Given the description of an element on the screen output the (x, y) to click on. 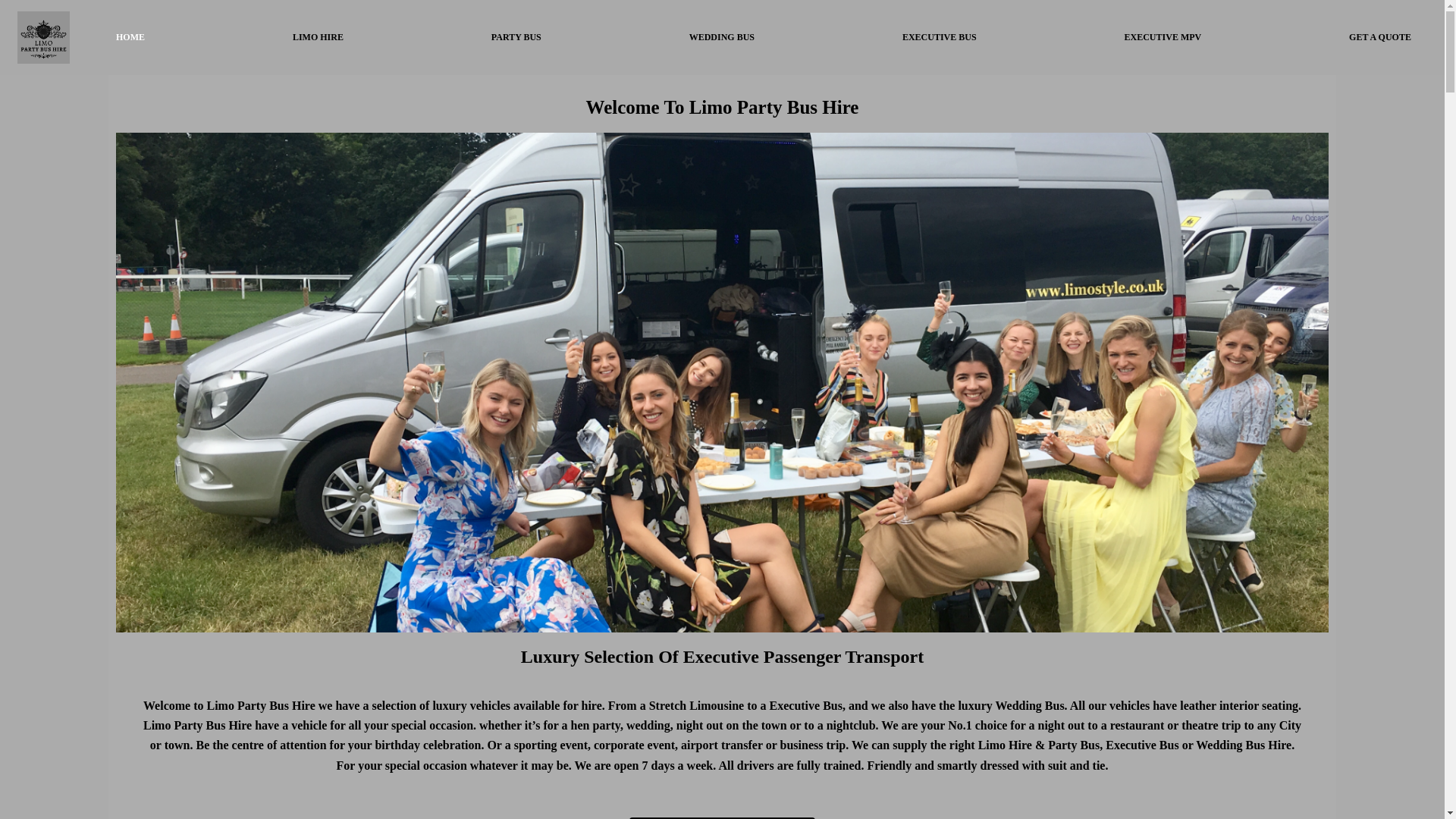
Skip to content (15, 7)
WEDDING BUS (720, 37)
PARTY BUS (515, 37)
GET A QUOTE (1380, 37)
EXECUTIVE BUS (939, 37)
LIMO HIRE (317, 37)
EXECUTIVE MPV (1162, 37)
